Given the description of an element on the screen output the (x, y) to click on. 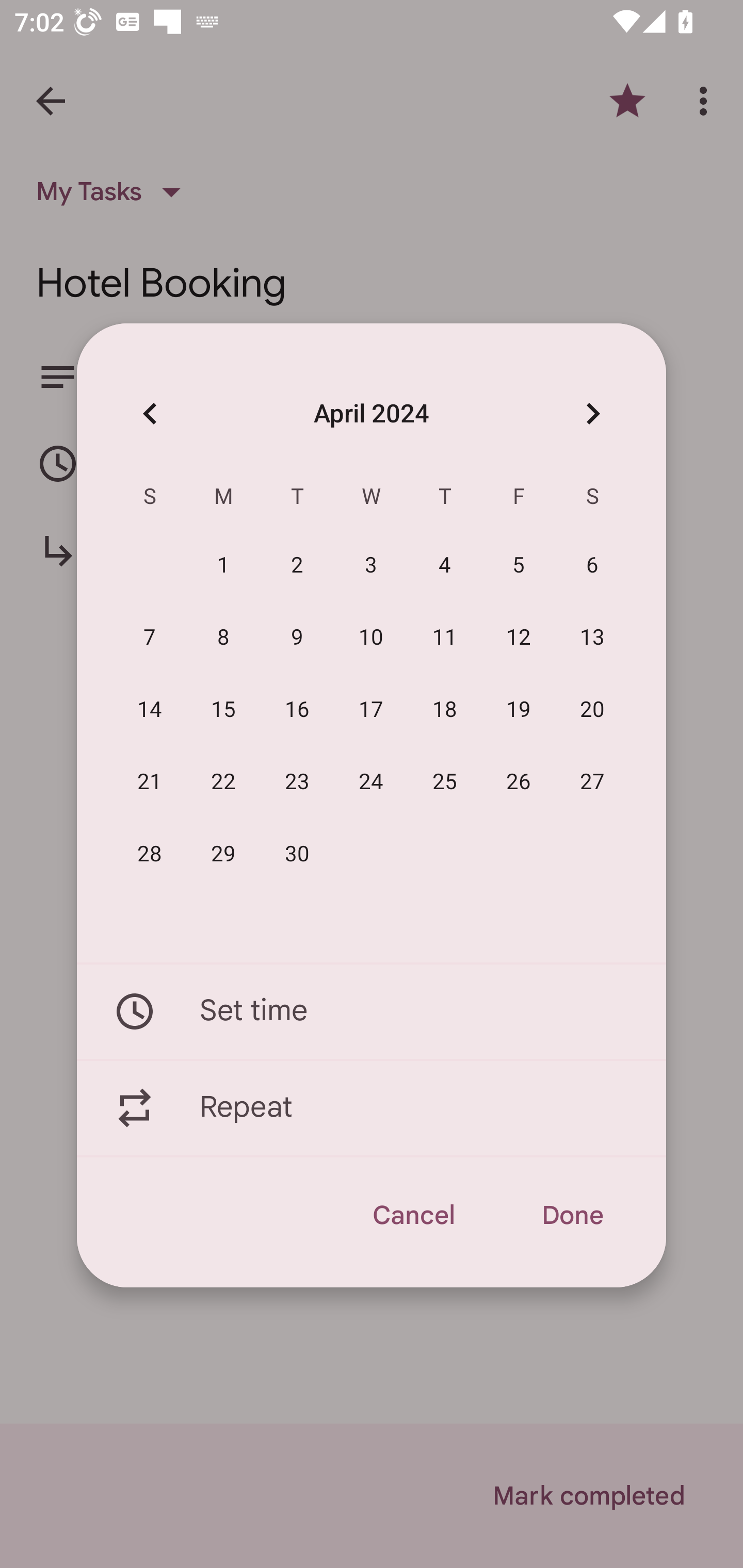
Previous month (149, 413)
Next month (592, 413)
1 01 April 2024 (223, 565)
2 02 April 2024 (297, 565)
3 03 April 2024 (370, 565)
4 04 April 2024 (444, 565)
5 05 April 2024 (518, 565)
6 06 April 2024 (592, 565)
7 07 April 2024 (149, 638)
8 08 April 2024 (223, 638)
9 09 April 2024 (297, 638)
10 10 April 2024 (370, 638)
11 11 April 2024 (444, 638)
12 12 April 2024 (518, 638)
13 13 April 2024 (592, 638)
14 14 April 2024 (149, 710)
15 15 April 2024 (223, 710)
16 16 April 2024 (297, 710)
17 17 April 2024 (370, 710)
18 18 April 2024 (444, 710)
19 19 April 2024 (518, 710)
20 20 April 2024 (592, 710)
21 21 April 2024 (149, 782)
22 22 April 2024 (223, 782)
23 23 April 2024 (297, 782)
24 24 April 2024 (370, 782)
25 25 April 2024 (444, 782)
26 26 April 2024 (518, 782)
27 27 April 2024 (592, 782)
28 28 April 2024 (149, 854)
29 29 April 2024 (223, 854)
30 30 April 2024 (297, 854)
Set time (371, 1011)
Repeat (371, 1108)
Cancel (412, 1215)
Done (571, 1215)
